Given the description of an element on the screen output the (x, y) to click on. 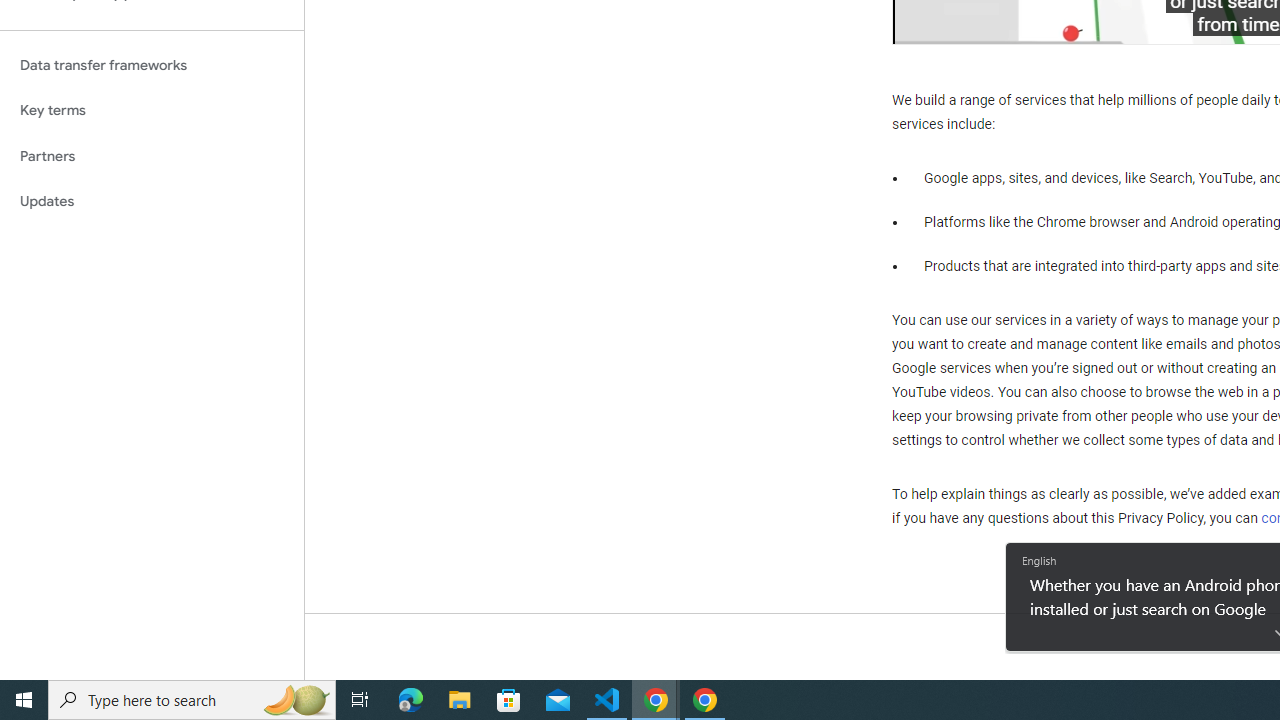
Key terms (152, 110)
Data transfer frameworks (152, 65)
Pause keyboard shortcut k (927, 22)
Partners (152, 156)
Mute (m) (970, 22)
